Given the description of an element on the screen output the (x, y) to click on. 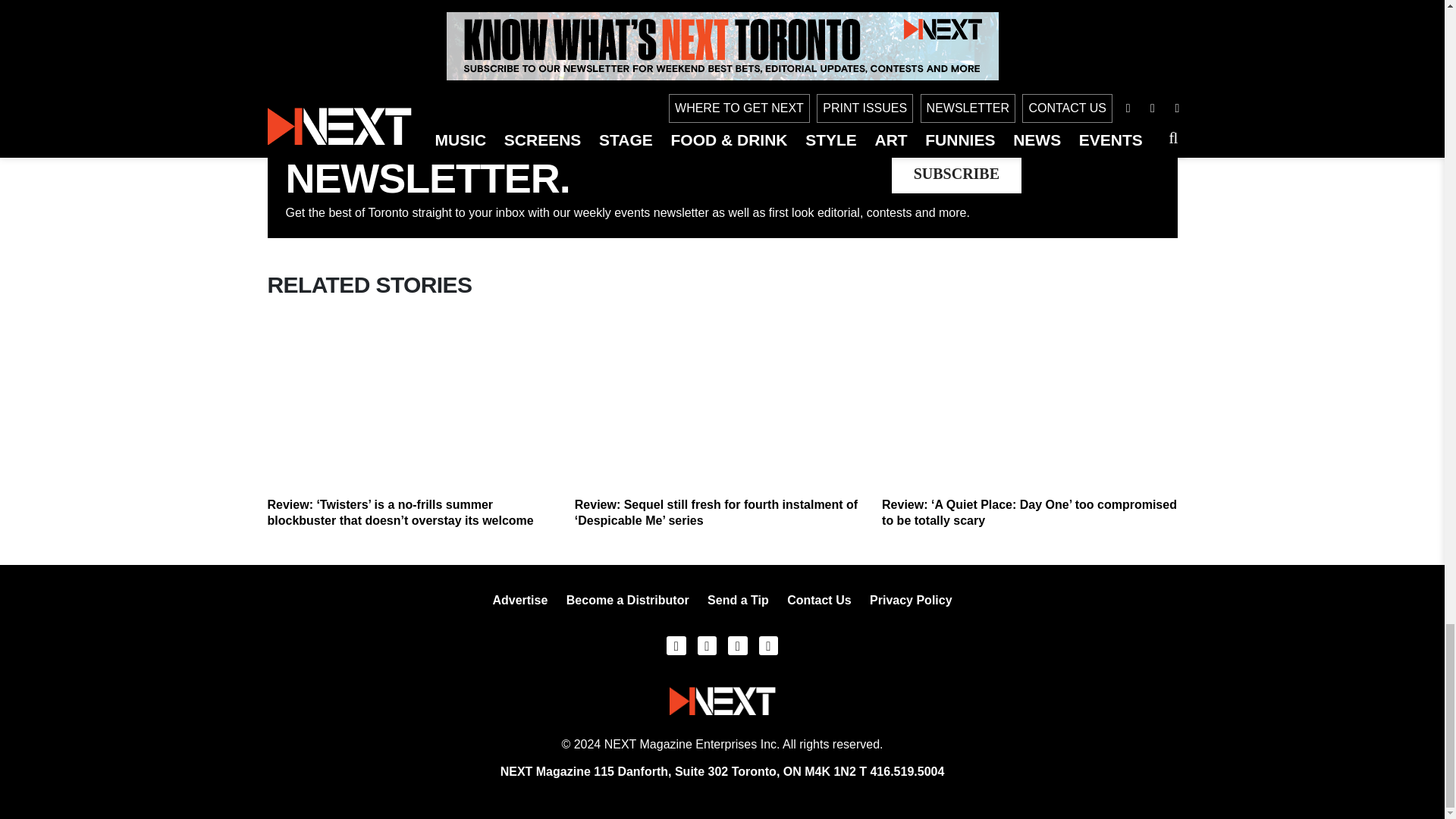
Subscribe (956, 173)
